Given the description of an element on the screen output the (x, y) to click on. 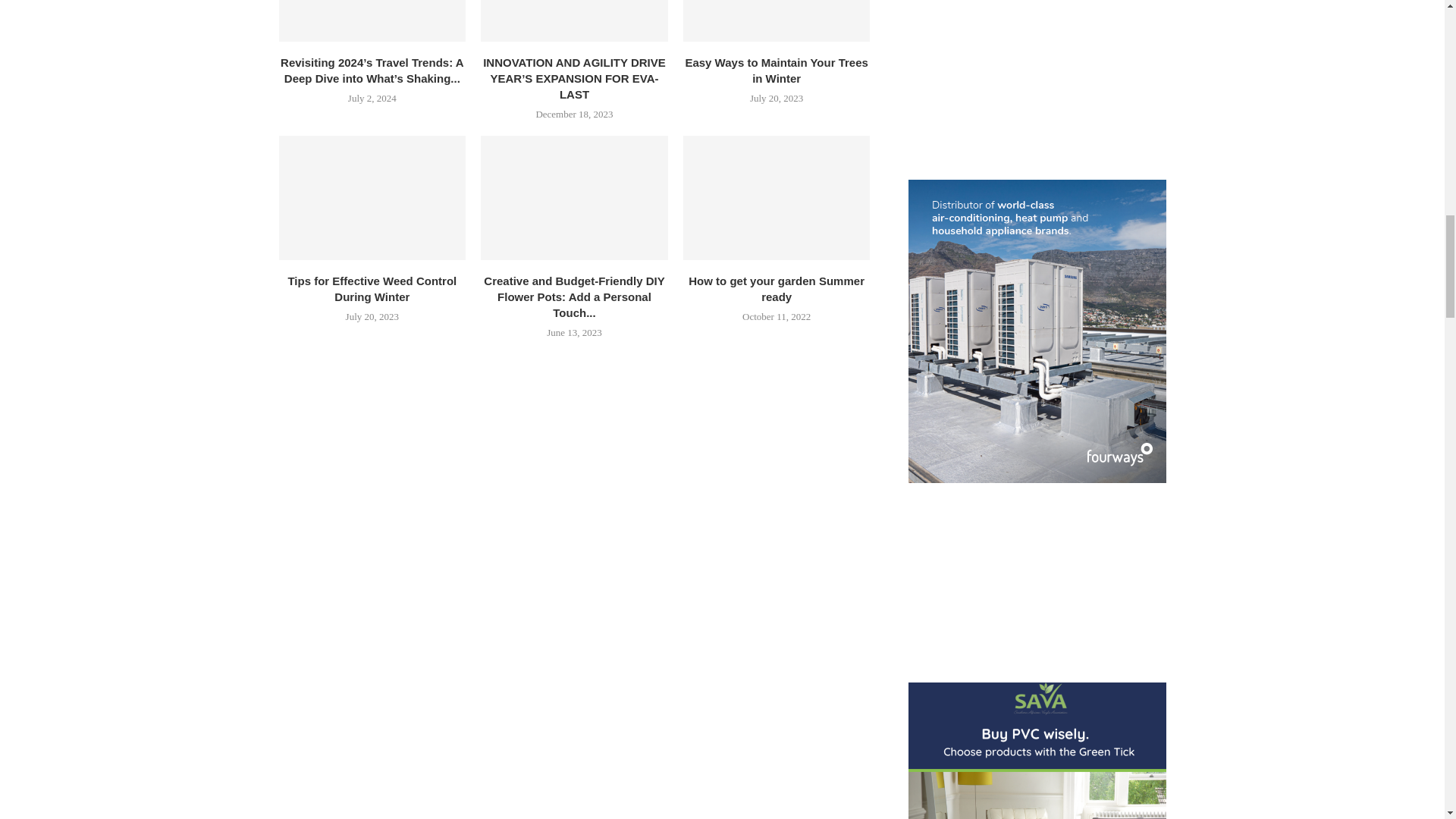
How to get your garden Summer ready (776, 197)
Easy Ways to Maintain Your Trees in Winter (775, 70)
Tips for Effective Weed Control During Winter (371, 288)
How to get your garden Summer ready (776, 288)
Tips for Effective Weed Control During Winter (372, 197)
Easy Ways to Maintain Your Trees in Winter (776, 20)
